Given the description of an element on the screen output the (x, y) to click on. 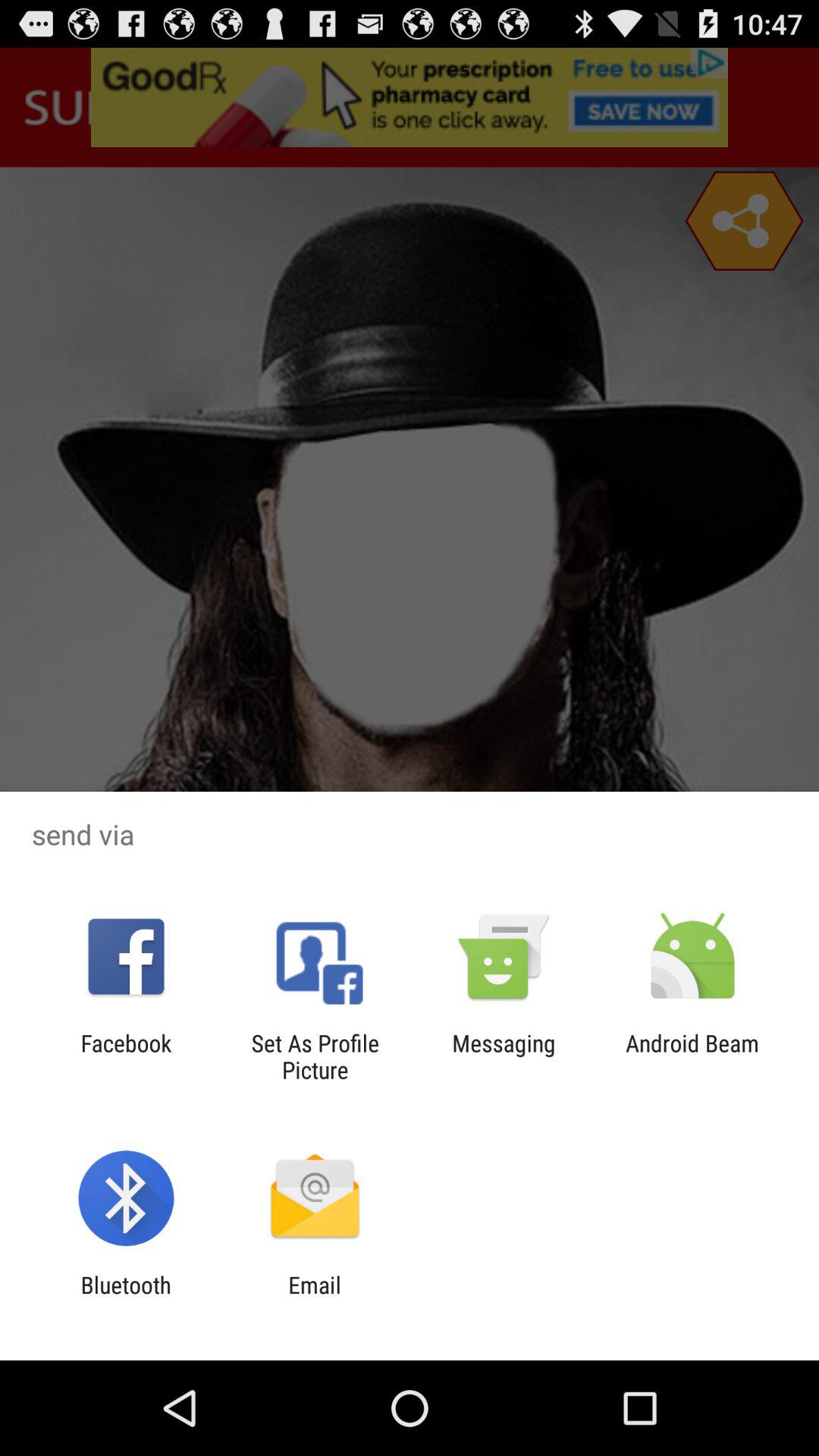
flip to the android beam icon (692, 1056)
